Given the description of an element on the screen output the (x, y) to click on. 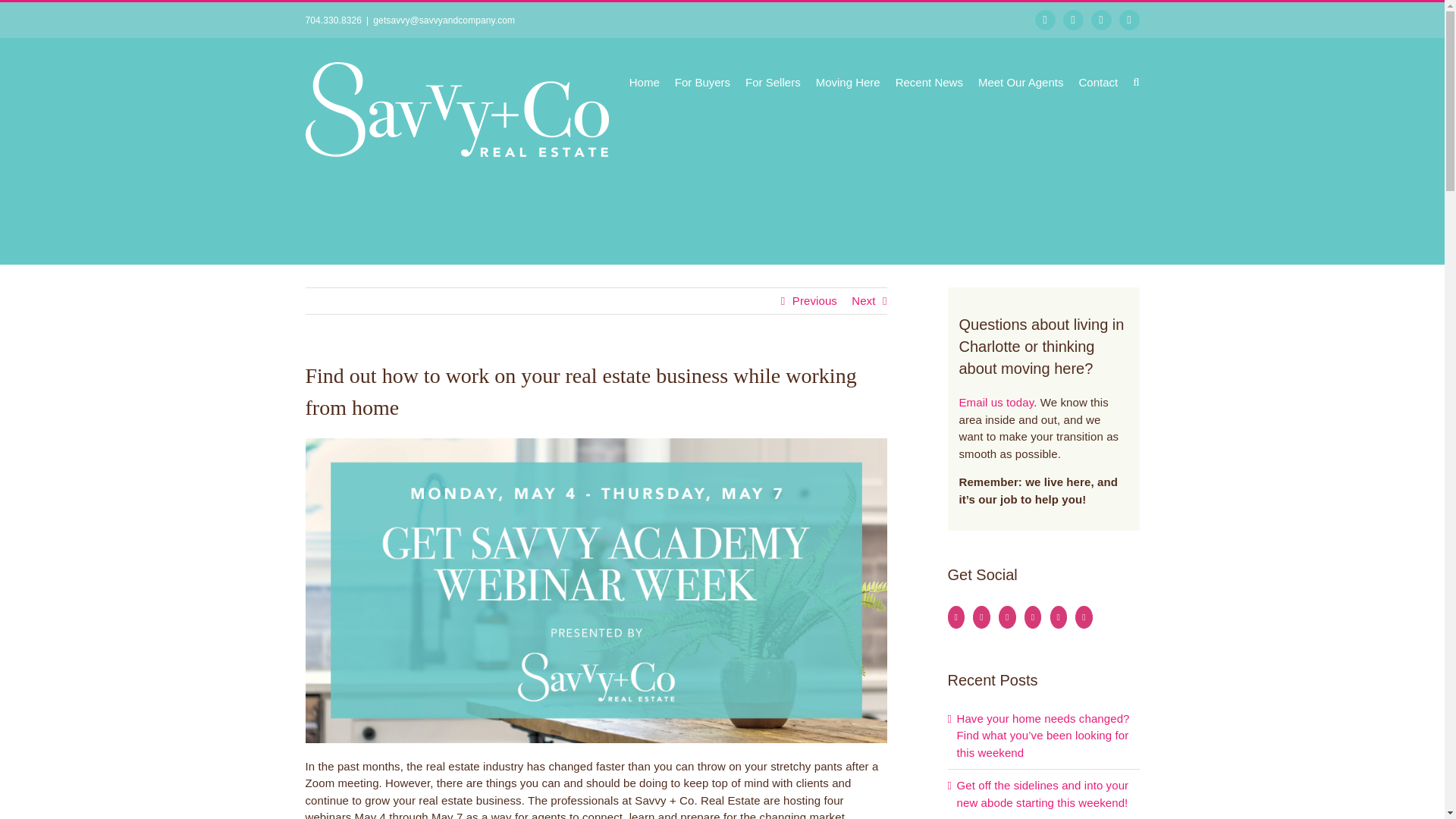
Instagram (1072, 19)
Next (863, 300)
Meet Our Agents (1021, 80)
YouTube (1101, 19)
Facebook (1045, 19)
Previous (814, 300)
LinkedIn (1129, 19)
